Given the description of an element on the screen output the (x, y) to click on. 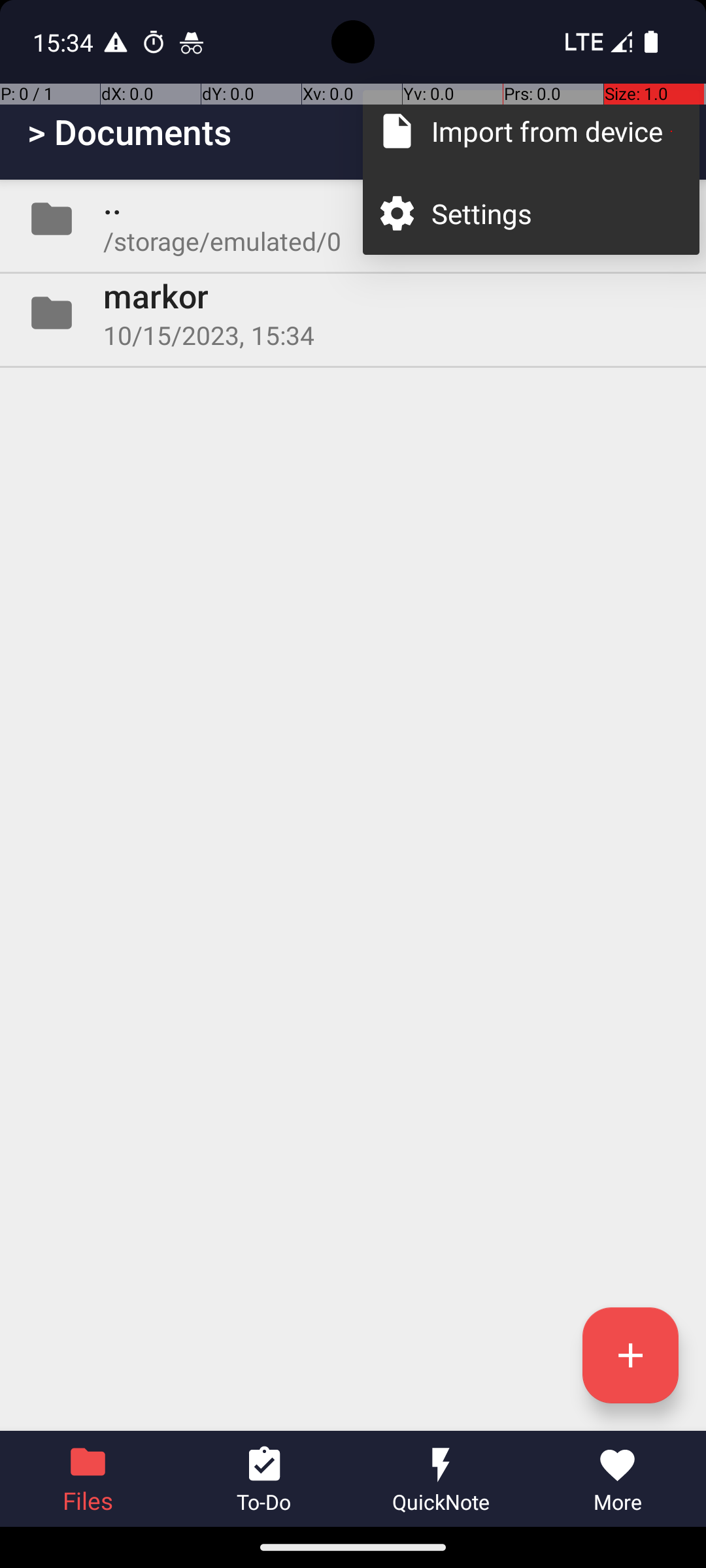
Import from device Element type: android.widget.TextView (551, 130)
